Given the description of an element on the screen output the (x, y) to click on. 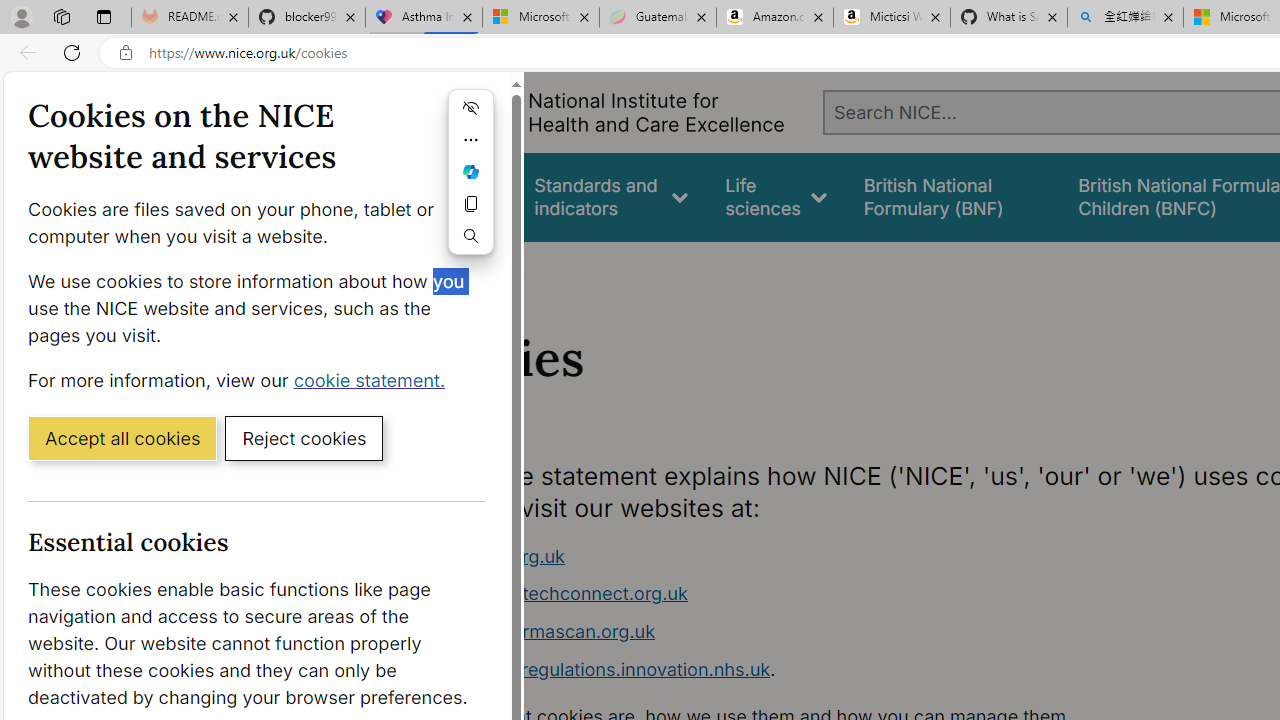
Guidance (458, 196)
cookie statement. (Opens in a new window) (373, 379)
www.nice.org.uk (796, 556)
www.digitalregulations.innovation.nhs.uk (595, 668)
Close cookie banner (480, 99)
Mini menu on text selection (470, 183)
www.healthtechconnect.org.uk (796, 594)
Copy (470, 203)
Reject cookies (304, 437)
